Given the description of an element on the screen output the (x, y) to click on. 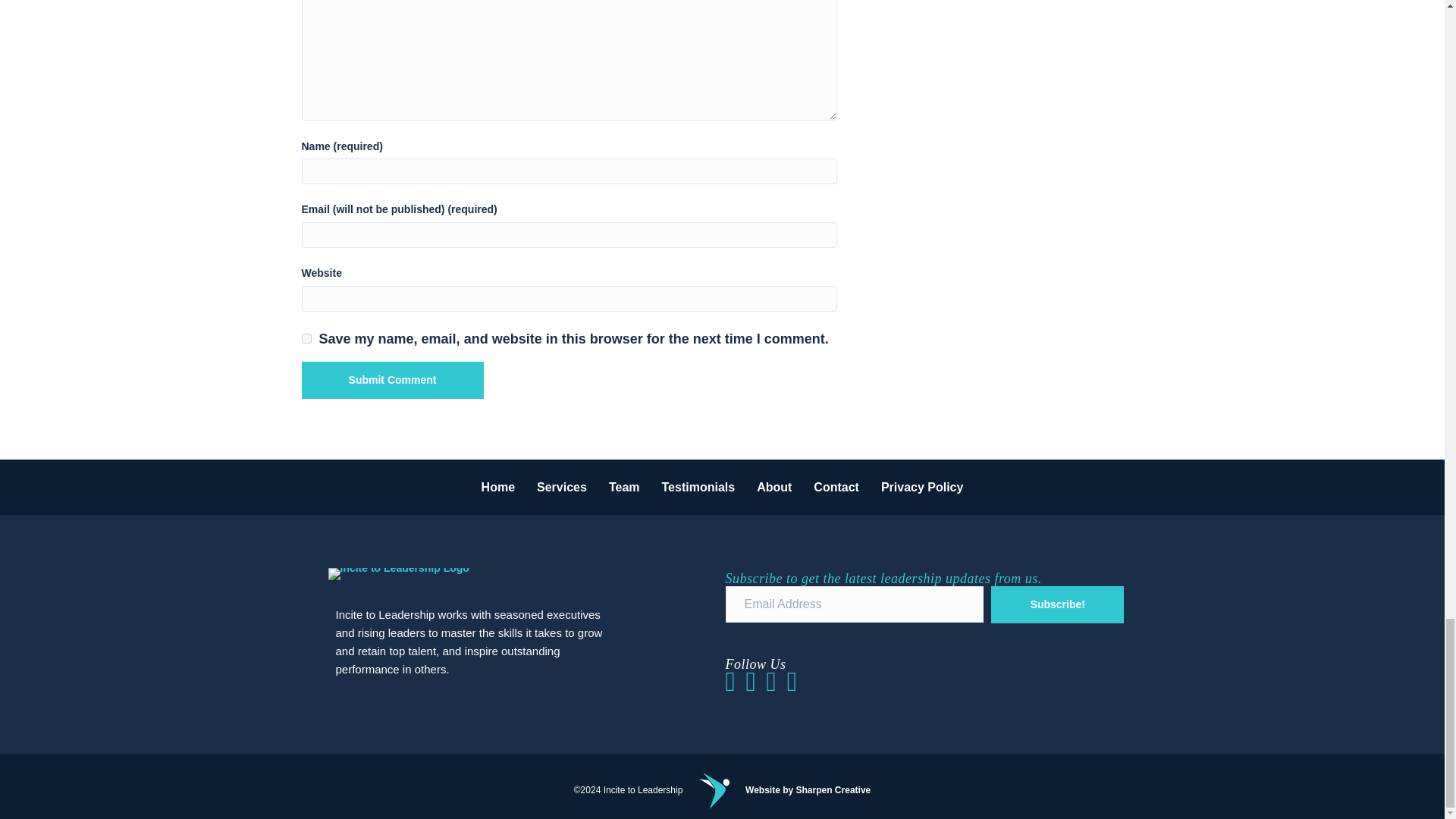
Submit Comment (392, 379)
yes (306, 338)
incite-to-leadership-logo-ko (397, 573)
Submit Comment (392, 379)
